Given the description of an element on the screen output the (x, y) to click on. 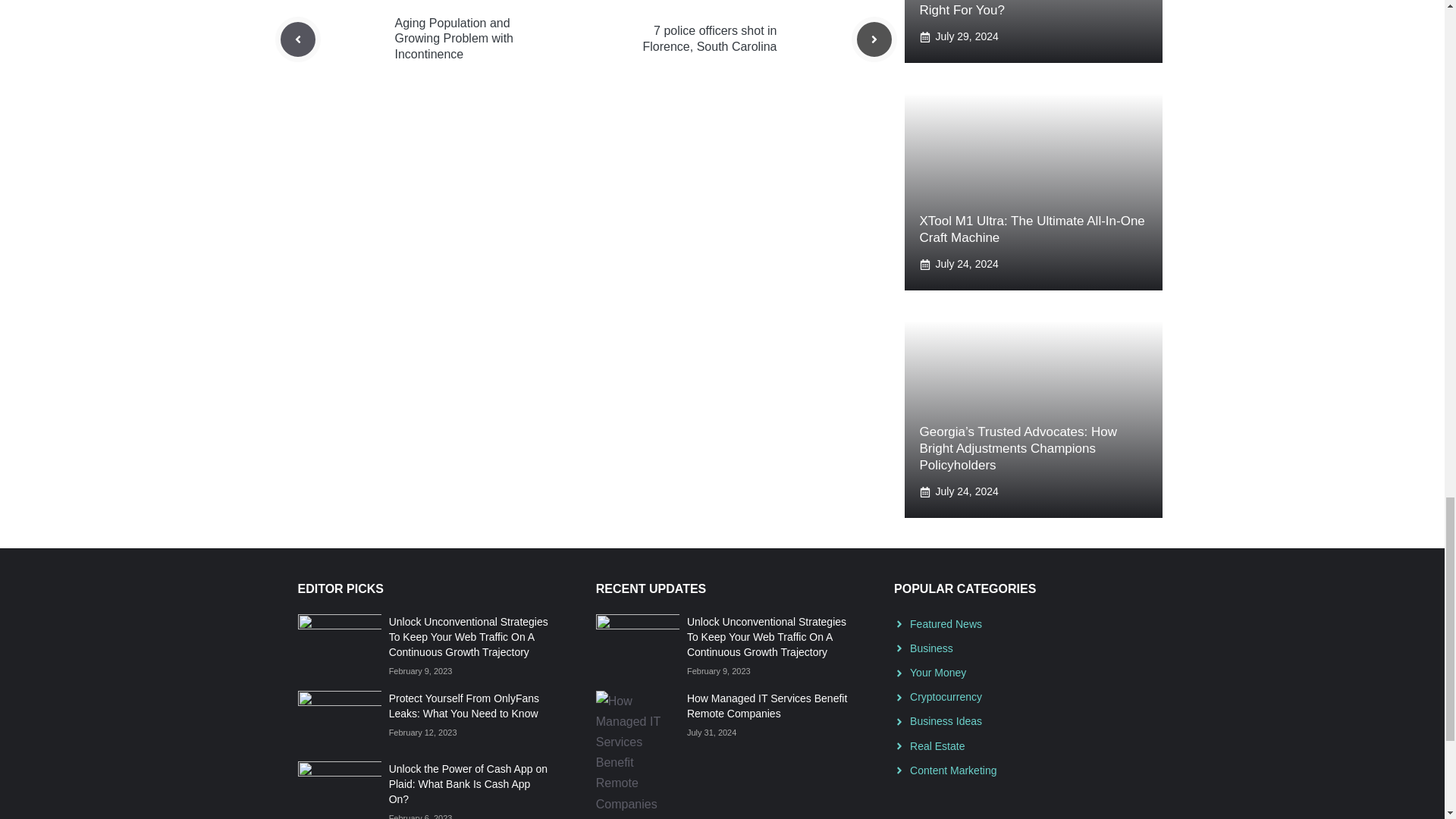
XTool M1 Ultra: The Ultimate All-In-One Craft Machine (1031, 228)
Protect Yourself From OnlyFans Leaks: What You Need to Know (463, 705)
7 police officers shot in Florence, South Carolina (710, 38)
Featured News (945, 623)
Business (931, 648)
How Managed IT Services Benefit Remote Companies (767, 705)
Aging Population and Growing Problem with Incontinence (453, 38)
Flat Top Grill Vs Gas Grill: Which Is Right For You? (1018, 8)
